Given the description of an element on the screen output the (x, y) to click on. 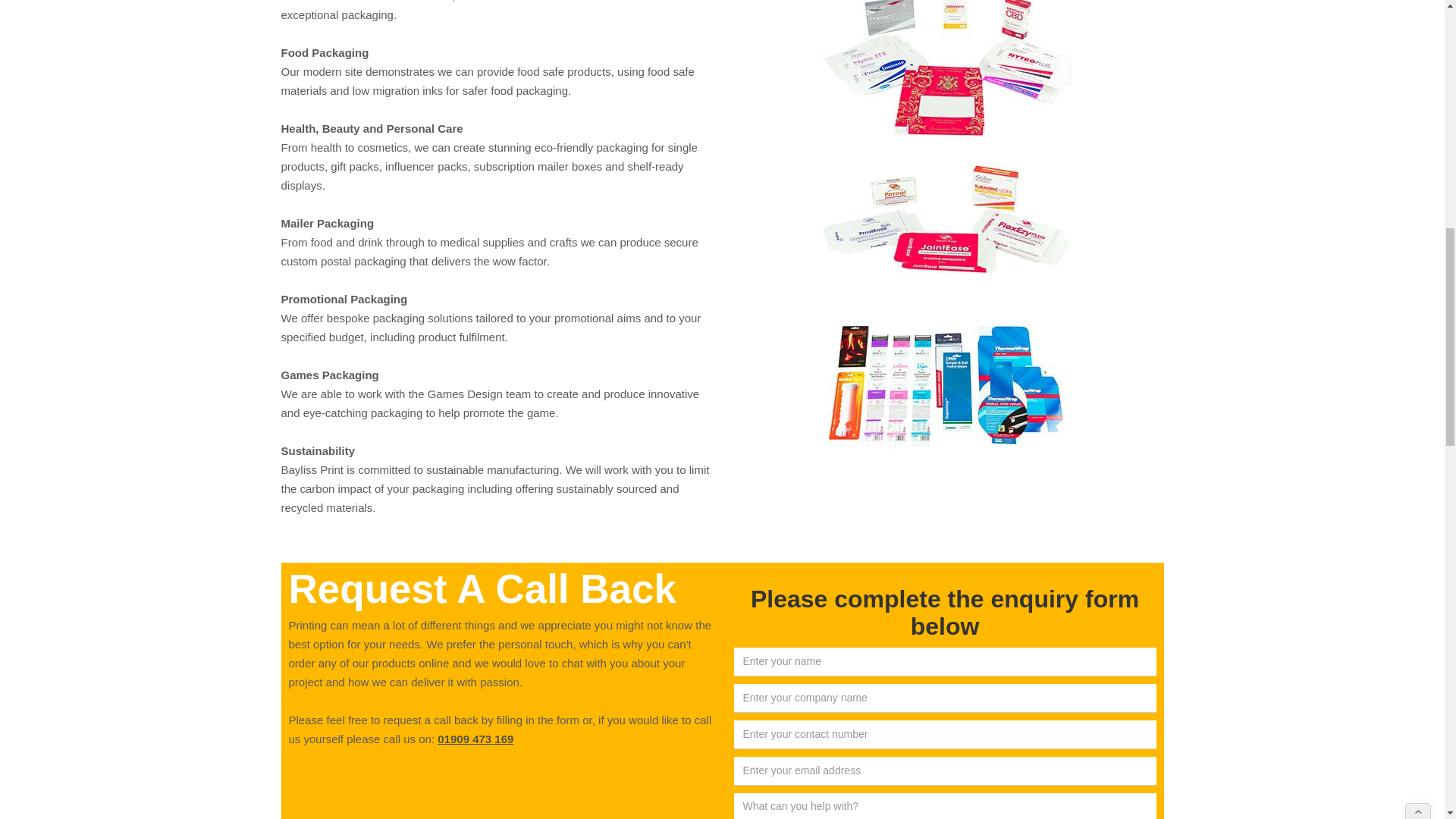
01909 473 169 (475, 738)
